Given the description of an element on the screen output the (x, y) to click on. 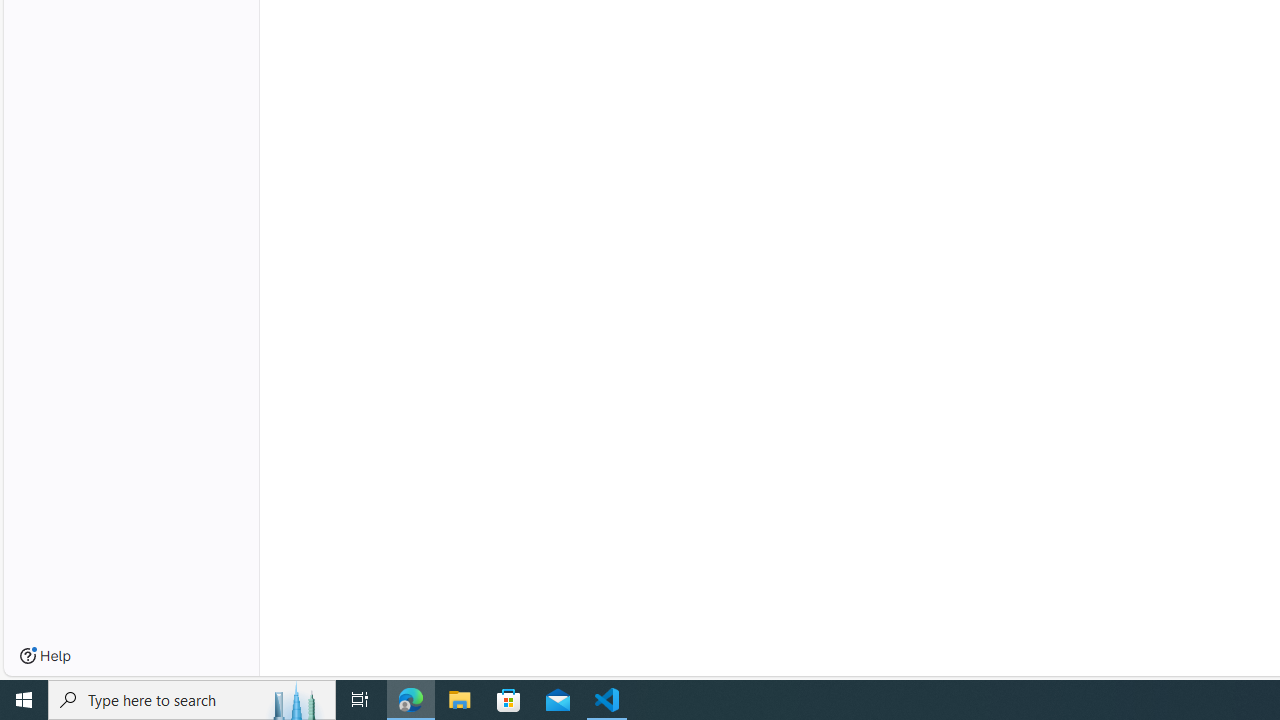
Help (45, 655)
